Given the description of an element on the screen output the (x, y) to click on. 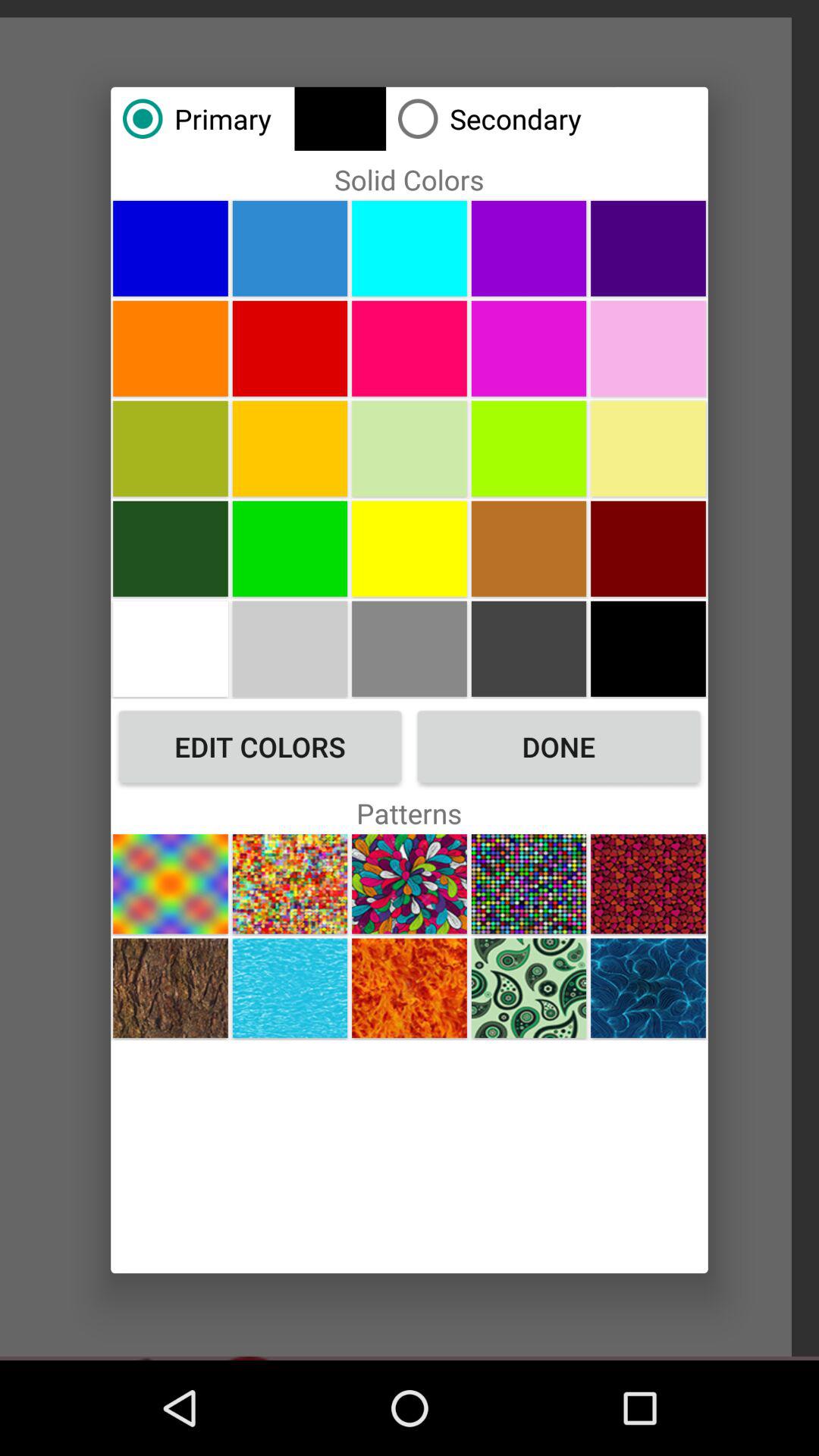
change pattern (647, 883)
